Given the description of an element on the screen output the (x, y) to click on. 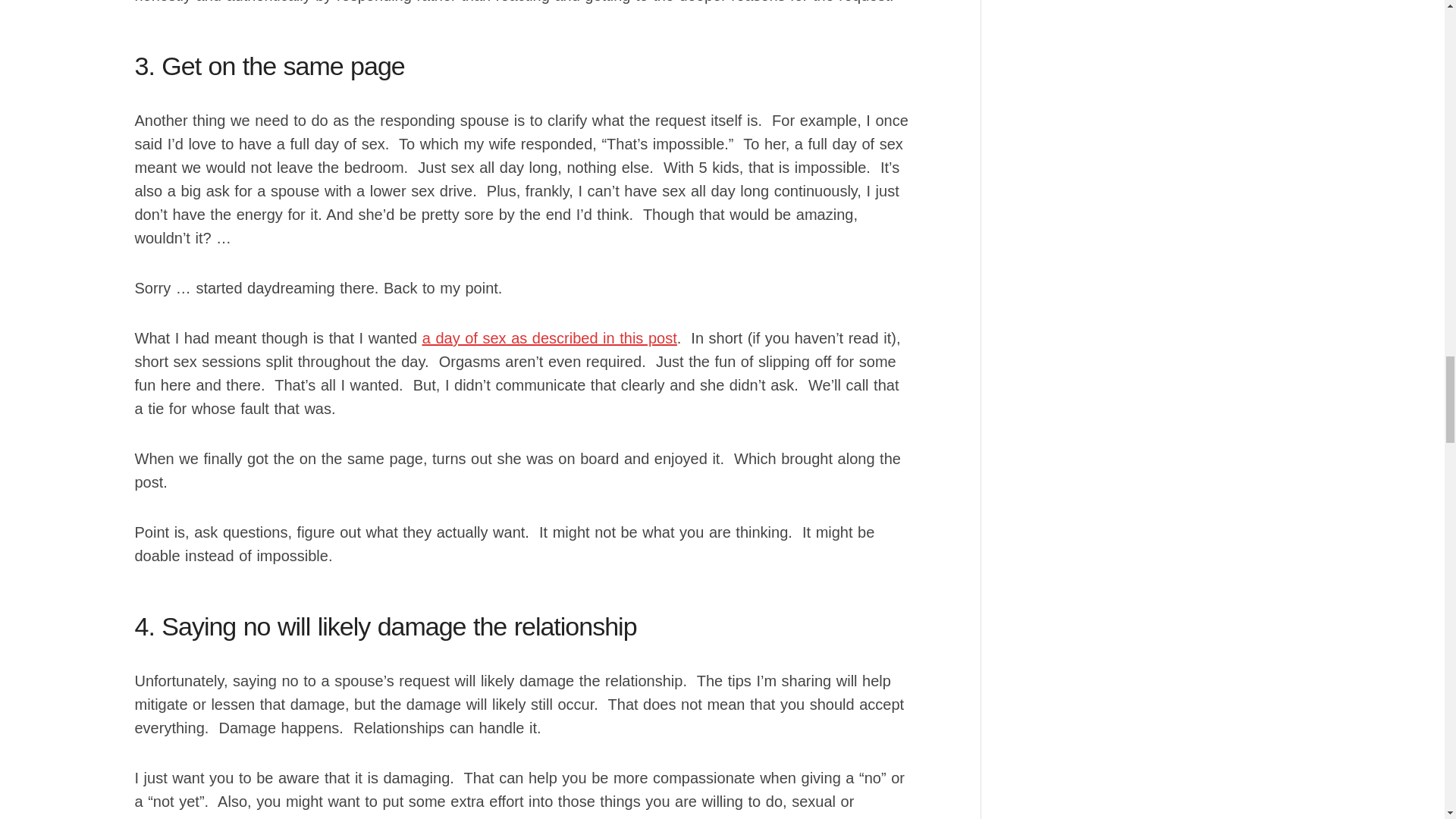
a day of sex as described in this post (549, 338)
